Given the description of an element on the screen output the (x, y) to click on. 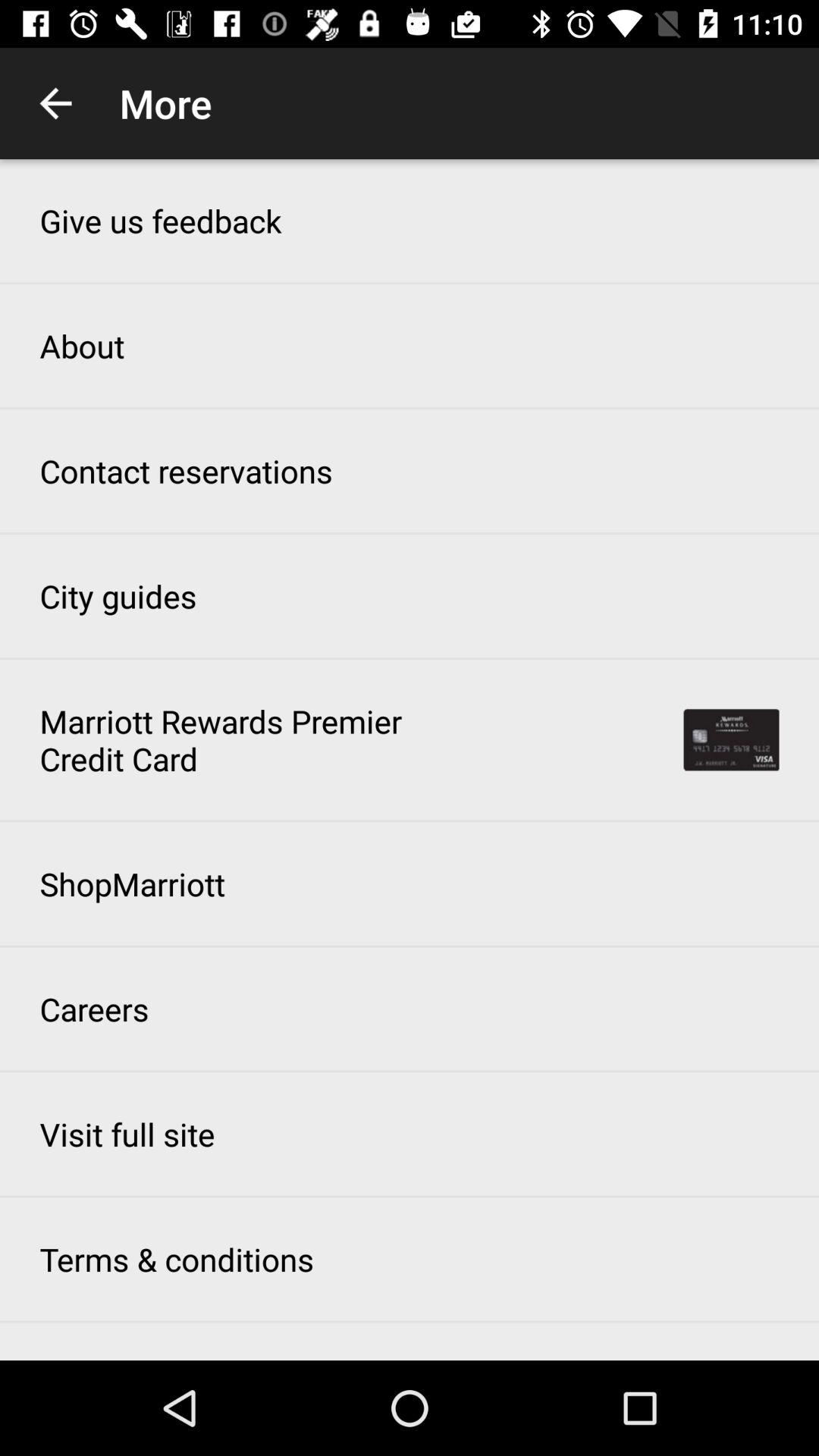
turn on the icon above about item (160, 220)
